Given the description of an element on the screen output the (x, y) to click on. 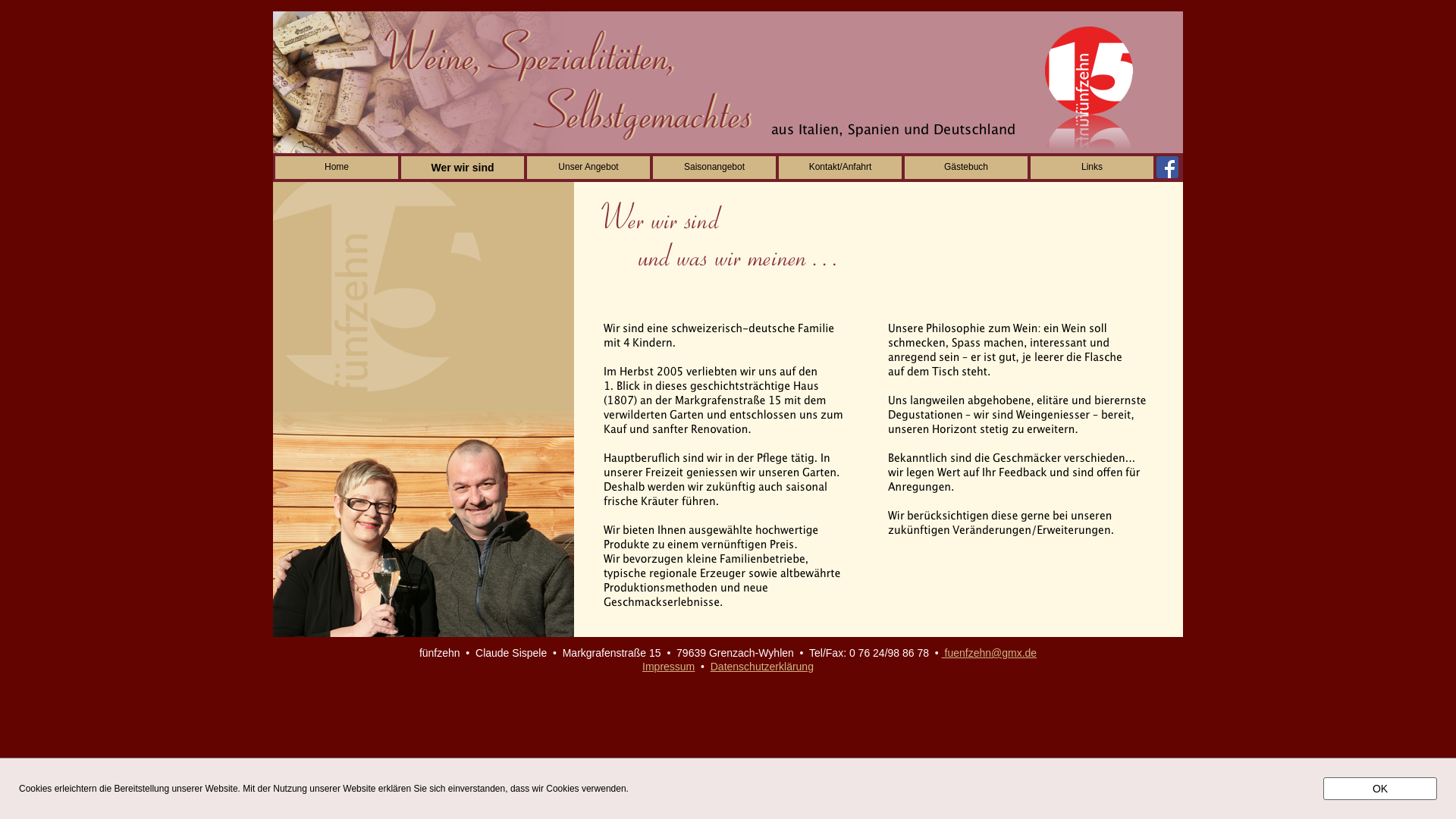
Links Element type: text (1091, 167)
Unser Angebot Element type: text (588, 167)
Saisonangebot Element type: text (713, 167)
Kontakt/Anfahrt Element type: text (839, 167)
Wer wir sind Element type: text (462, 167)
Impressum Element type: text (668, 666)
Home Element type: text (336, 167)
 fuenfzehn@gmx.de Element type: text (989, 652)
